Given the description of an element on the screen output the (x, y) to click on. 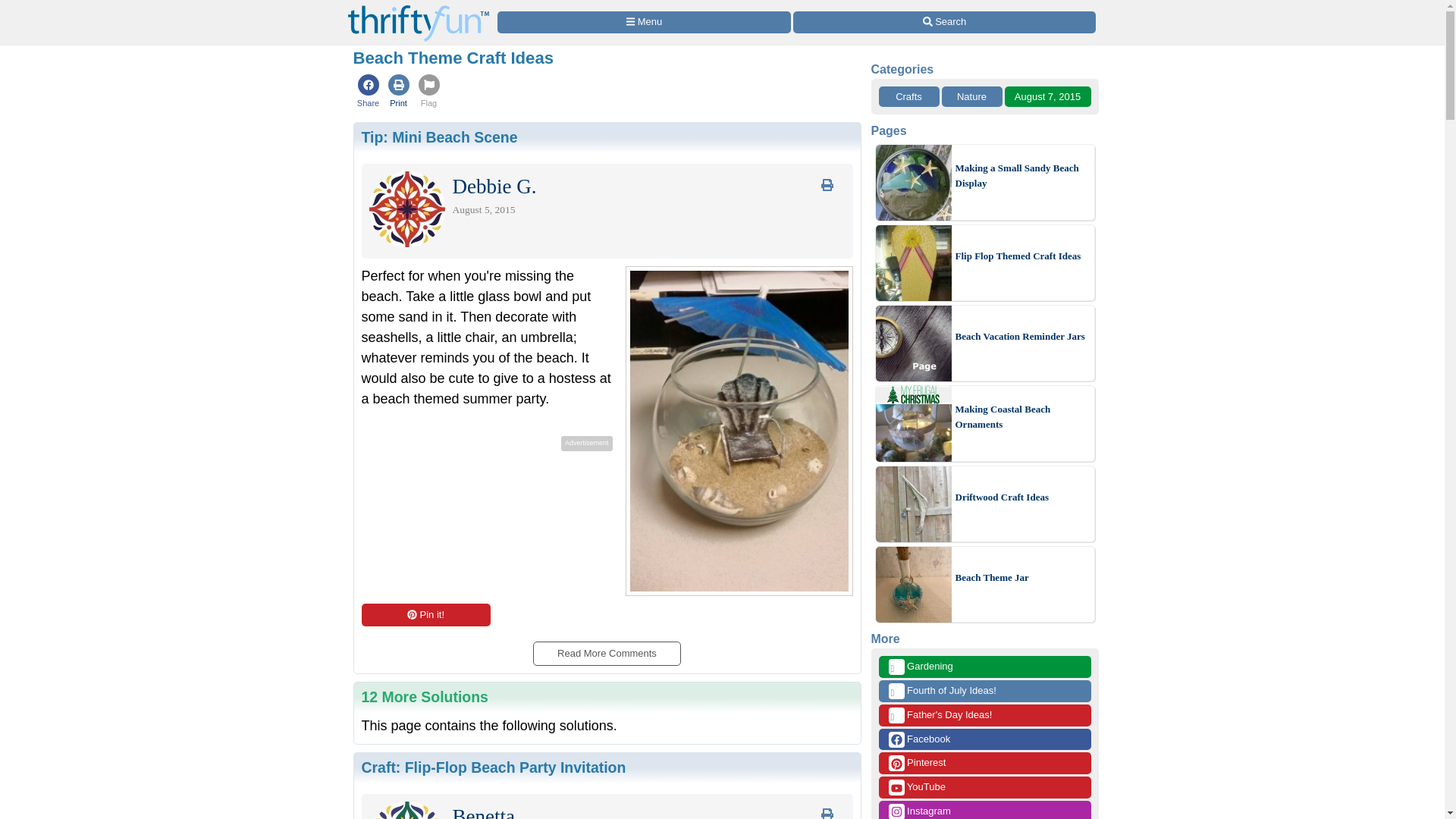
Benetta (482, 816)
Debbie G. (493, 189)
Tip: Mini Beach Scene (438, 136)
Read More Comments (605, 648)
 Pin it! (425, 614)
Craft: Flip-Flop Beach Party Invitation (493, 767)
